Given the description of an element on the screen output the (x, y) to click on. 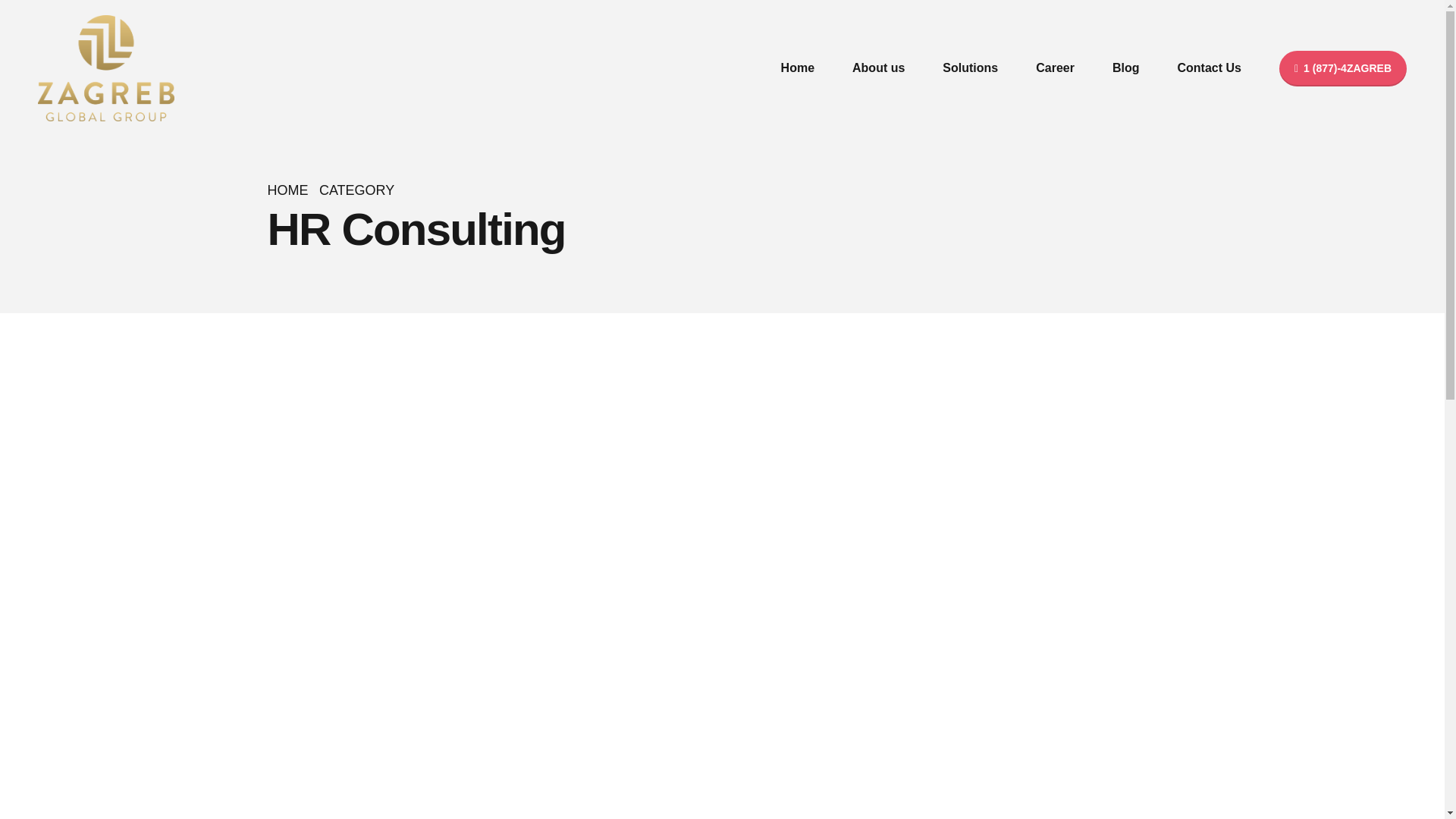
HOME (286, 190)
